Given the description of an element on the screen output the (x, y) to click on. 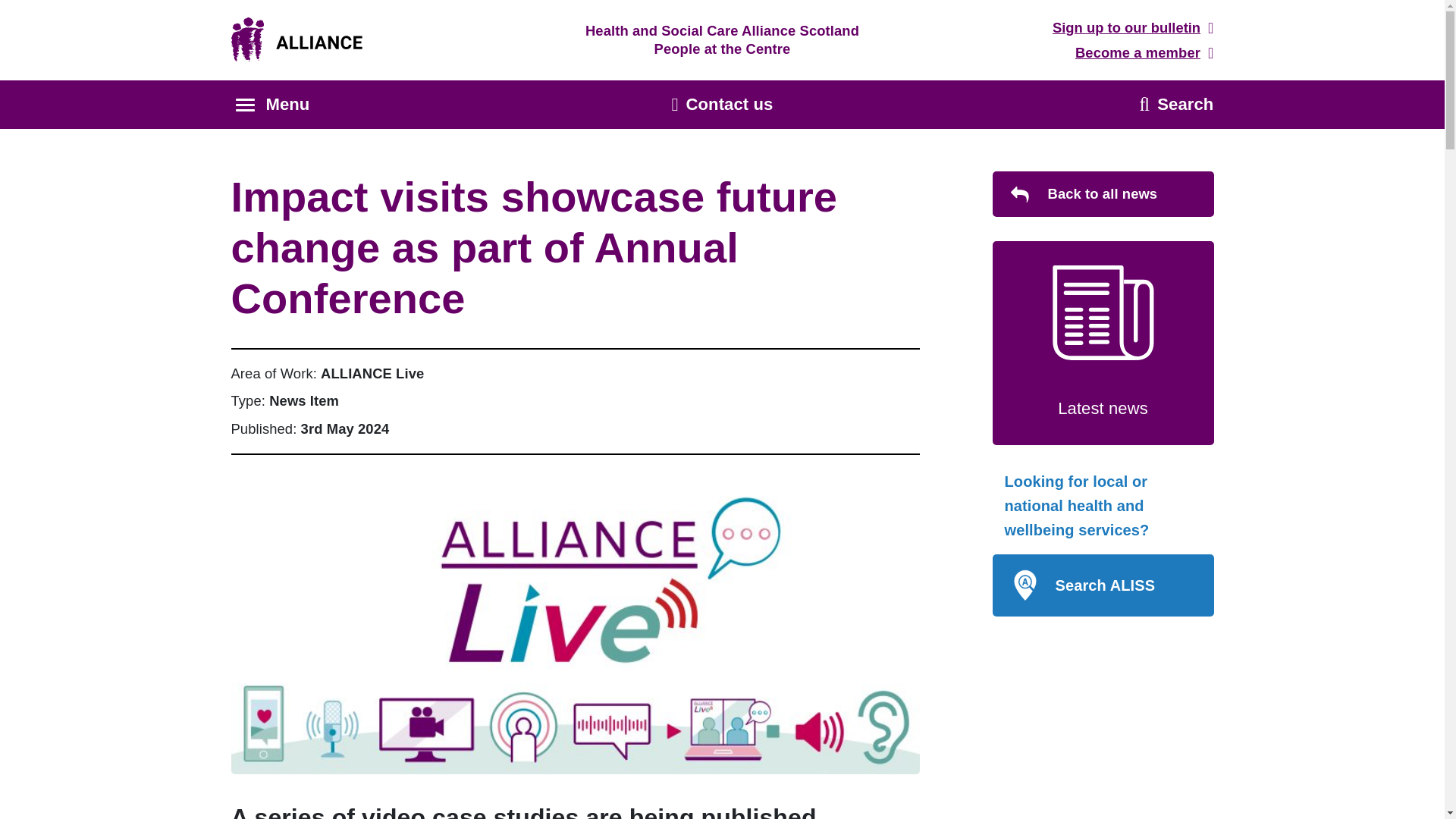
Contact us (722, 104)
Sign up to our bulletin (1133, 27)
Become a member (1144, 52)
Menu (272, 104)
Search (1177, 104)
